Given the description of an element on the screen output the (x, y) to click on. 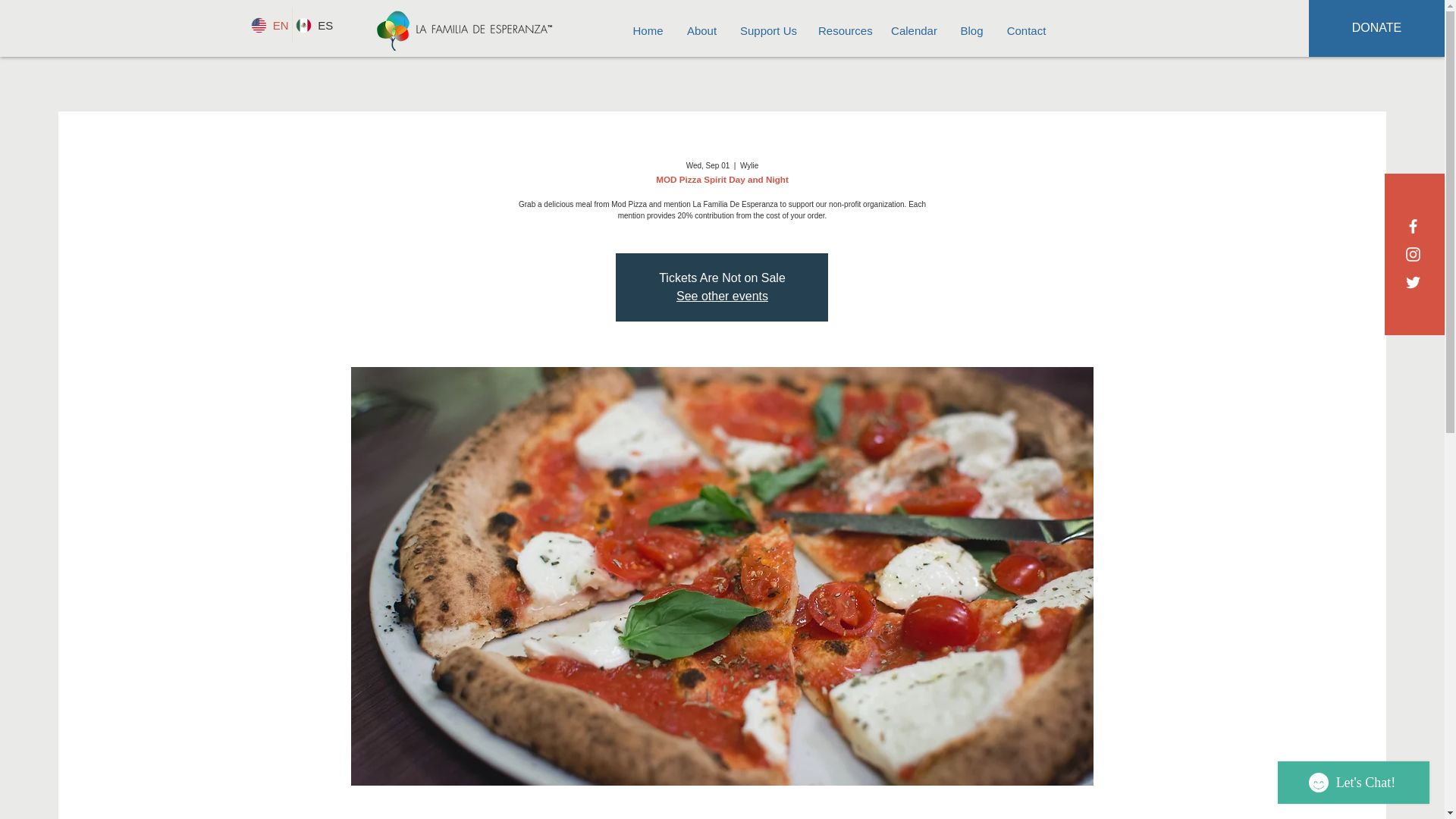
ES (314, 25)
EN (269, 25)
See other events (722, 295)
Calendar (914, 30)
Blog (971, 30)
Contact (1026, 30)
Home (648, 30)
